Given the description of an element on the screen output the (x, y) to click on. 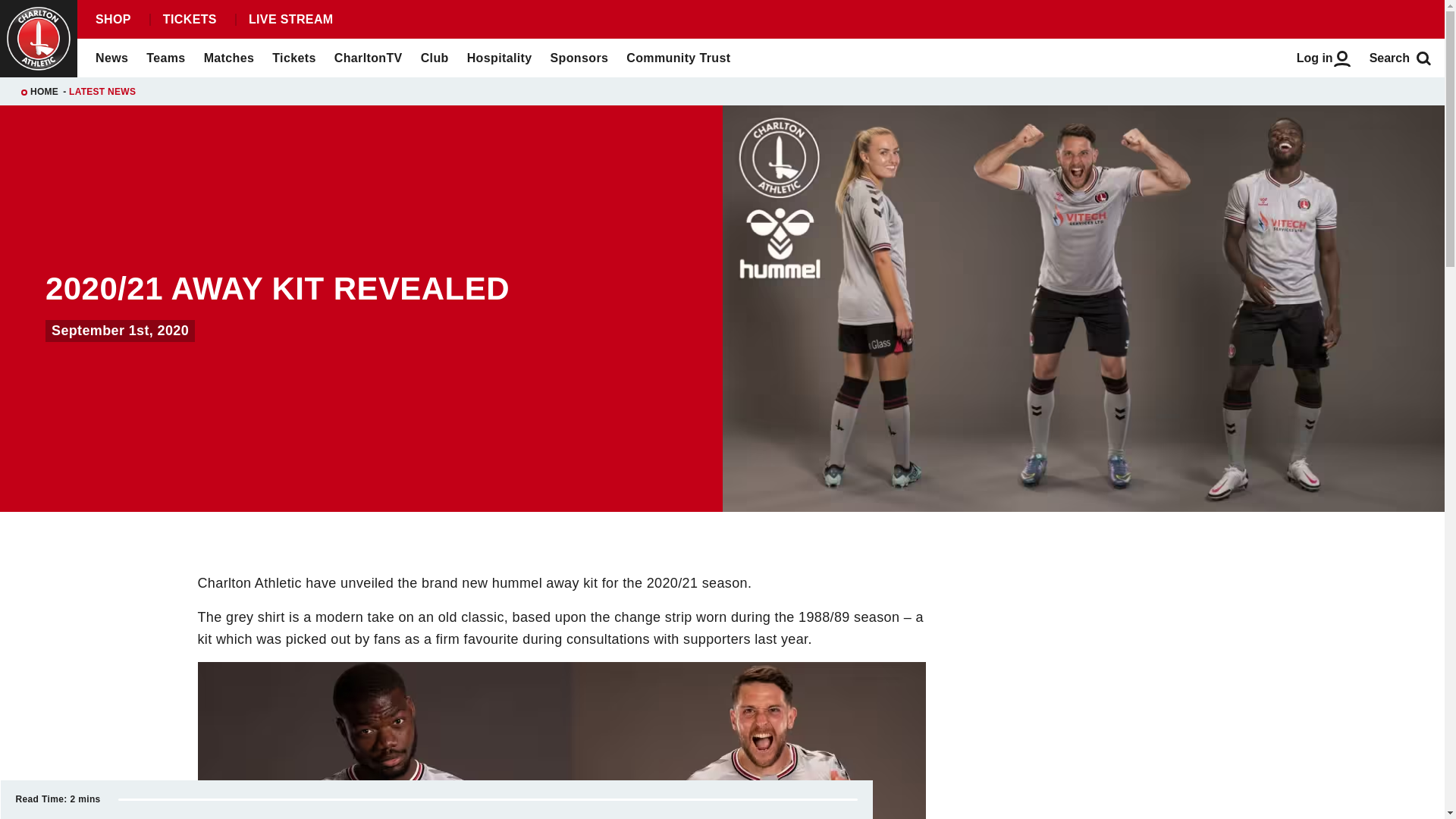
Matches (228, 57)
LIVE STREAM (290, 19)
Teams (165, 57)
TICKETS (188, 19)
Teams (165, 57)
SHOP (112, 19)
